Given the description of an element on the screen output the (x, y) to click on. 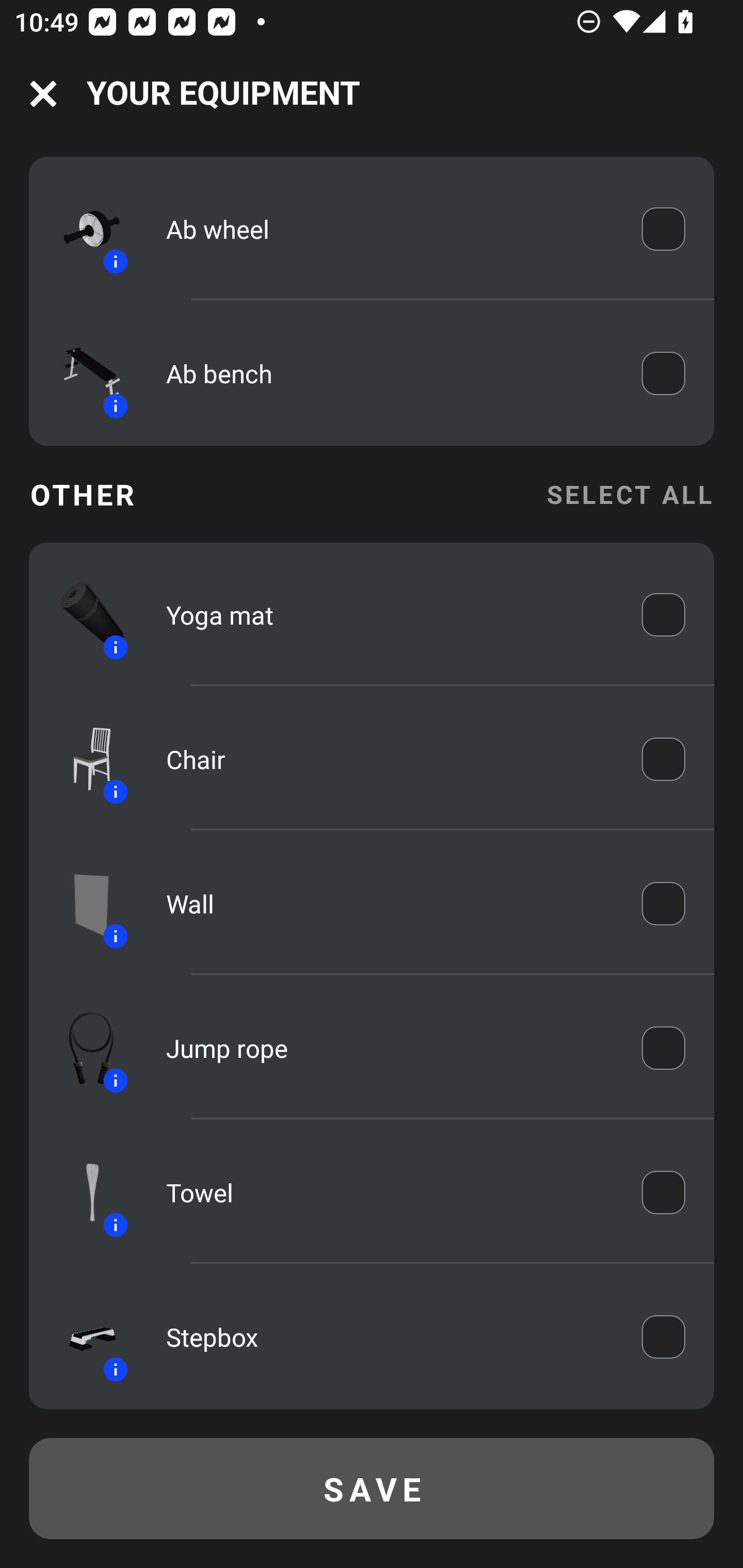
Navigation icon (43, 93)
Equipment icon Information icon (82, 229)
Ab wheel (389, 228)
Equipment icon Information icon (82, 373)
Ab bench (389, 373)
SELECT ALL (629, 494)
Equipment icon Information icon (82, 615)
Yoga mat (389, 614)
Equipment icon Information icon (82, 759)
Chair (389, 759)
Equipment icon Information icon (82, 903)
Wall (389, 903)
Equipment icon Information icon (82, 1048)
Jump rope (389, 1048)
Equipment icon Information icon (82, 1192)
Towel (389, 1192)
Equipment icon Information icon (82, 1336)
Stepbox (389, 1336)
SAVE (371, 1488)
